Given the description of an element on the screen output the (x, y) to click on. 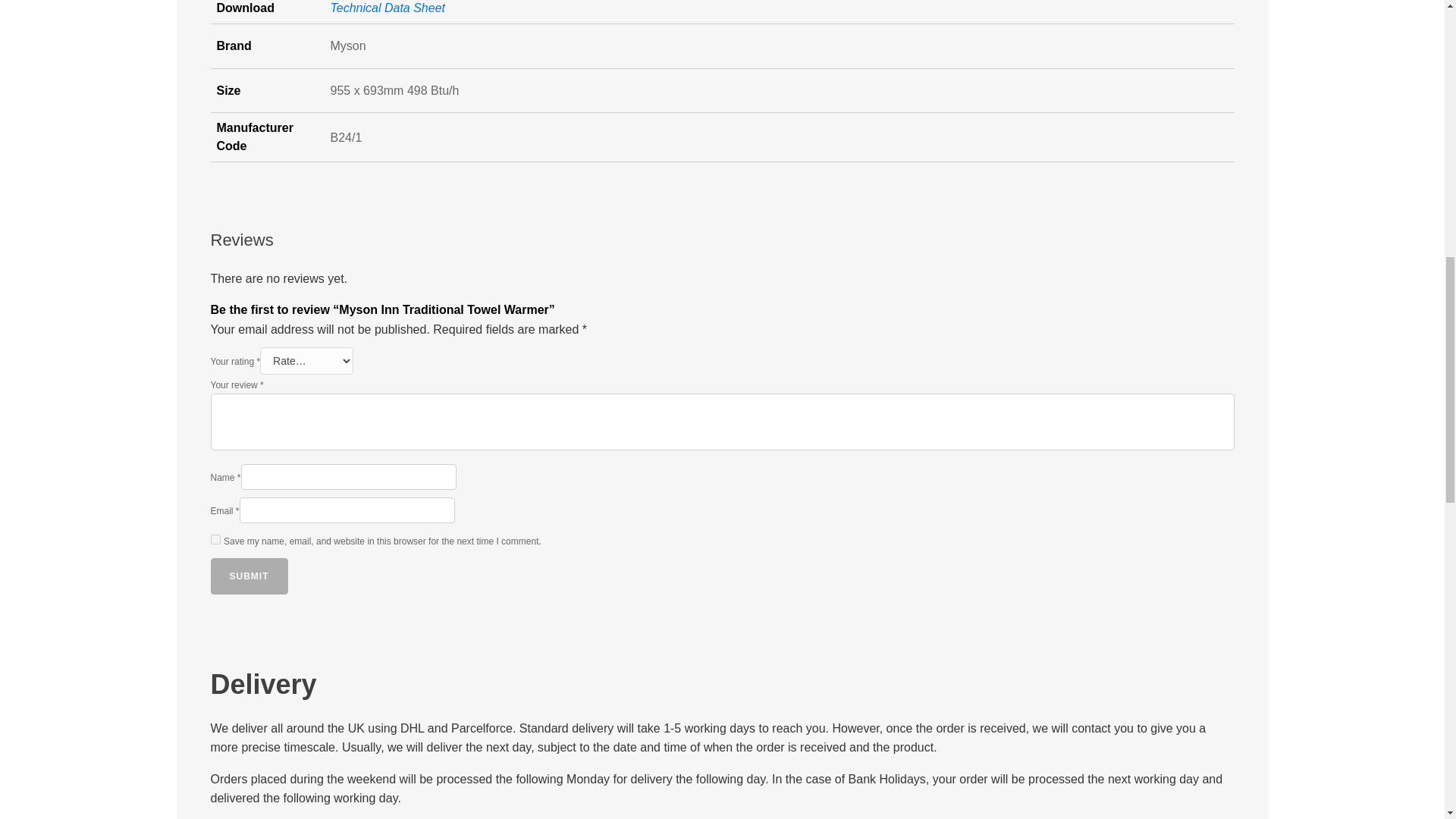
yes (216, 539)
Submit (249, 575)
